Given the description of an element on the screen output the (x, y) to click on. 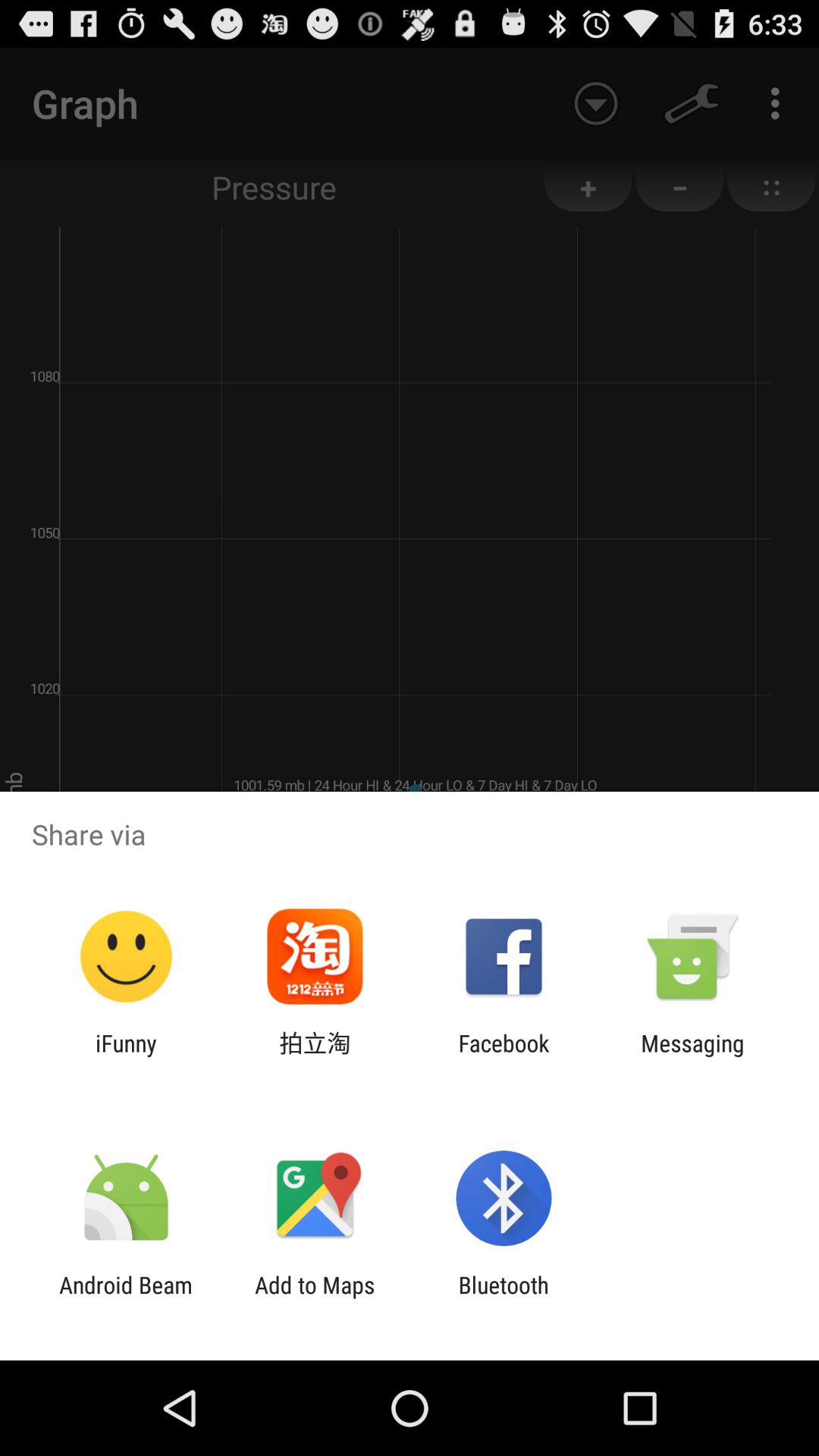
scroll to android beam item (125, 1298)
